Given the description of an element on the screen output the (x, y) to click on. 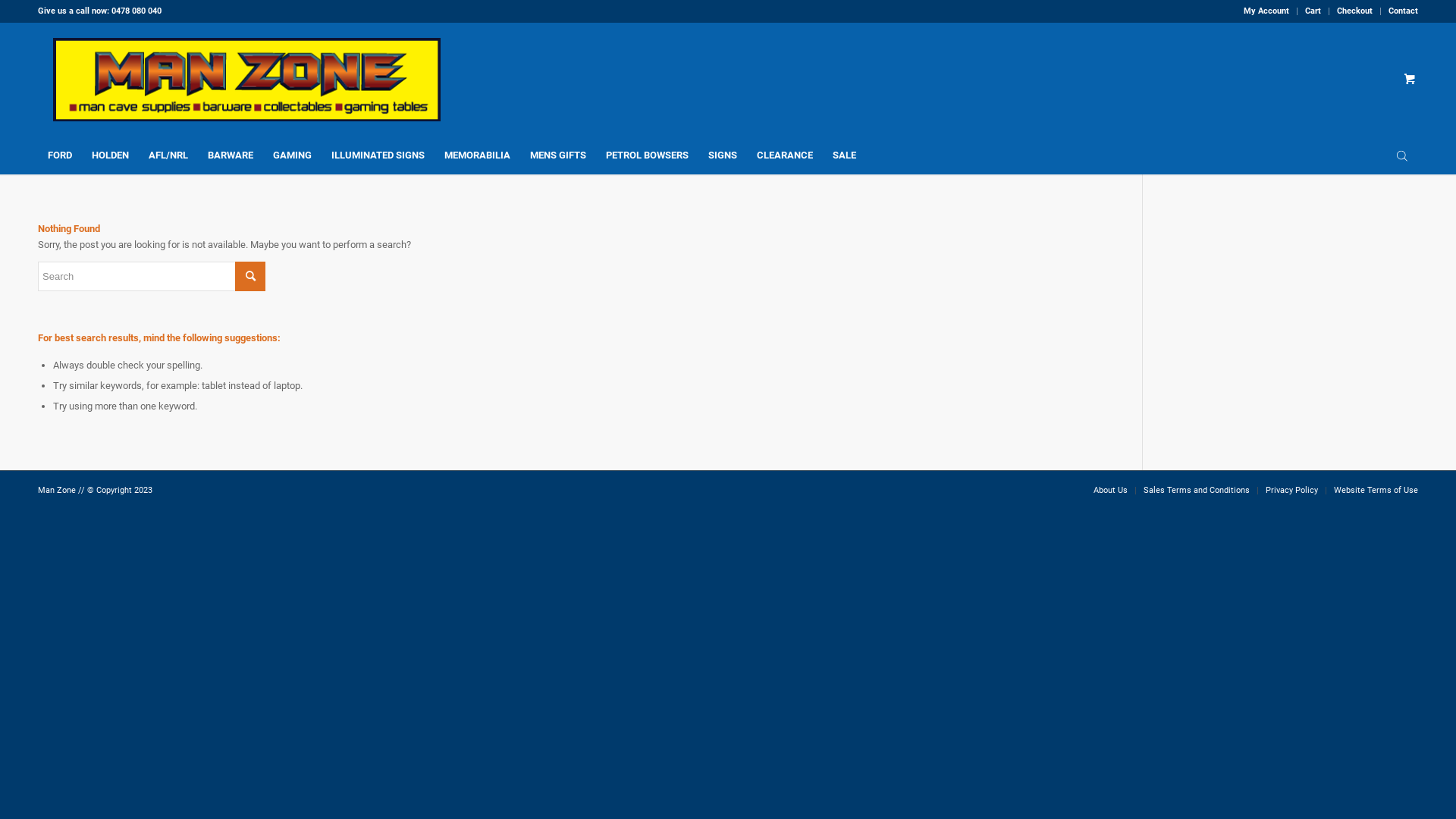
ILLUMINATED SIGNS Element type: text (377, 155)
SALE Element type: text (844, 155)
FORD Element type: text (59, 155)
CLEARANCE Element type: text (784, 155)
Cart Element type: text (1313, 10)
GAMING Element type: text (292, 155)
PETROL BOWSERS Element type: text (647, 155)
MENS GIFTS Element type: text (558, 155)
logo_520px_wide Element type: hover (246, 79)
About Us Element type: text (1110, 490)
Website Terms of Use Element type: text (1375, 490)
My Account Element type: text (1266, 10)
BARWARE Element type: text (230, 155)
Sales Terms and Conditions Element type: text (1196, 490)
MEMORABILIA Element type: text (477, 155)
AFL/NRL Element type: text (167, 155)
Contact Element type: text (1403, 10)
Privacy Policy Element type: text (1291, 490)
SIGNS Element type: text (722, 155)
HOLDEN Element type: text (109, 155)
Checkout Element type: text (1354, 10)
